Given the description of an element on the screen output the (x, y) to click on. 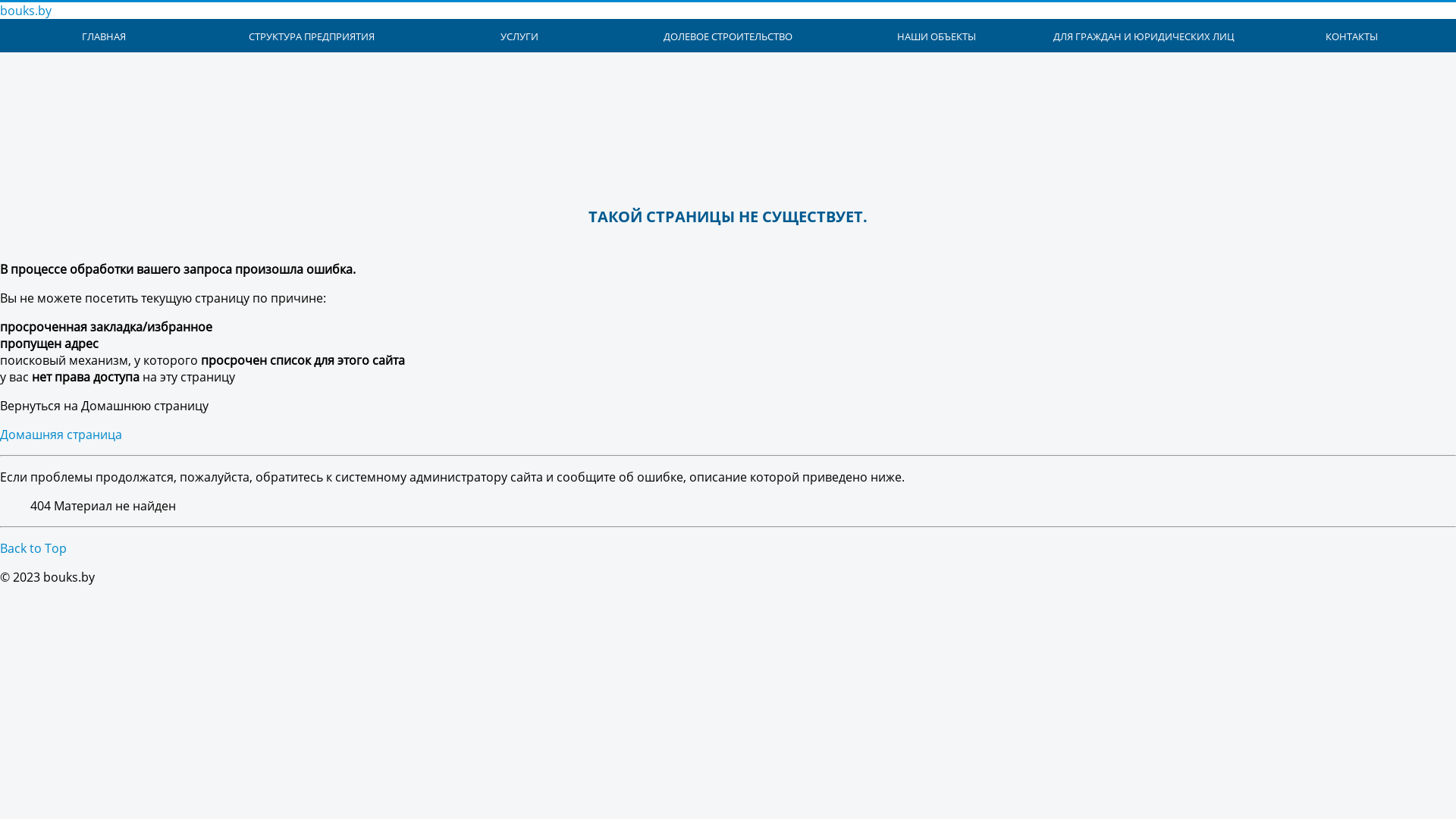
bouks.by Element type: text (25, 10)
Back to Top Element type: text (33, 547)
